Given the description of an element on the screen output the (x, y) to click on. 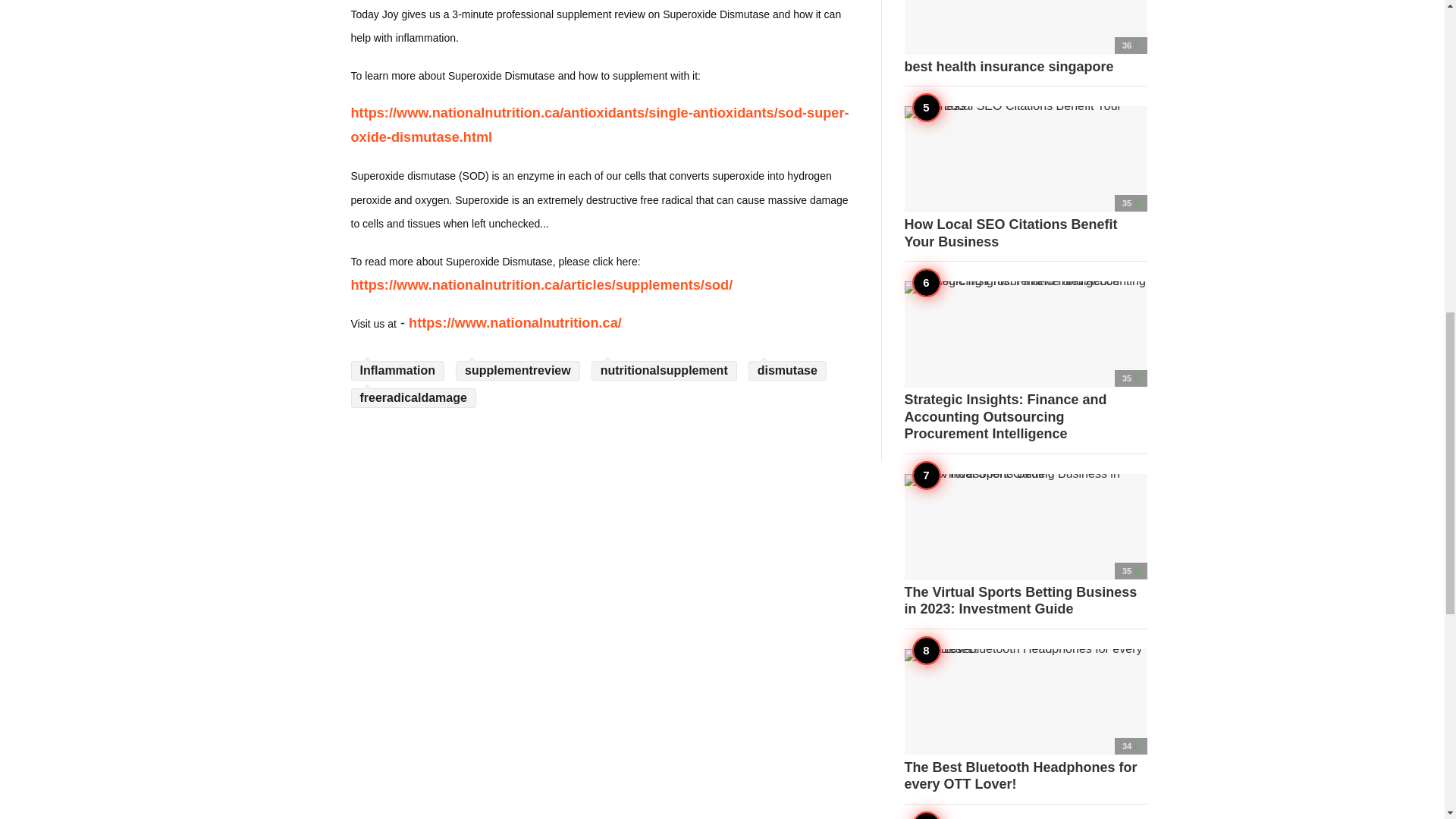
best health insurance singapore (1025, 38)
How Local SEO Citations Benefit Your Business (1025, 178)
The Best Bluetooth Headphones for every OTT Lover! (1025, 721)
